Given the description of an element on the screen output the (x, y) to click on. 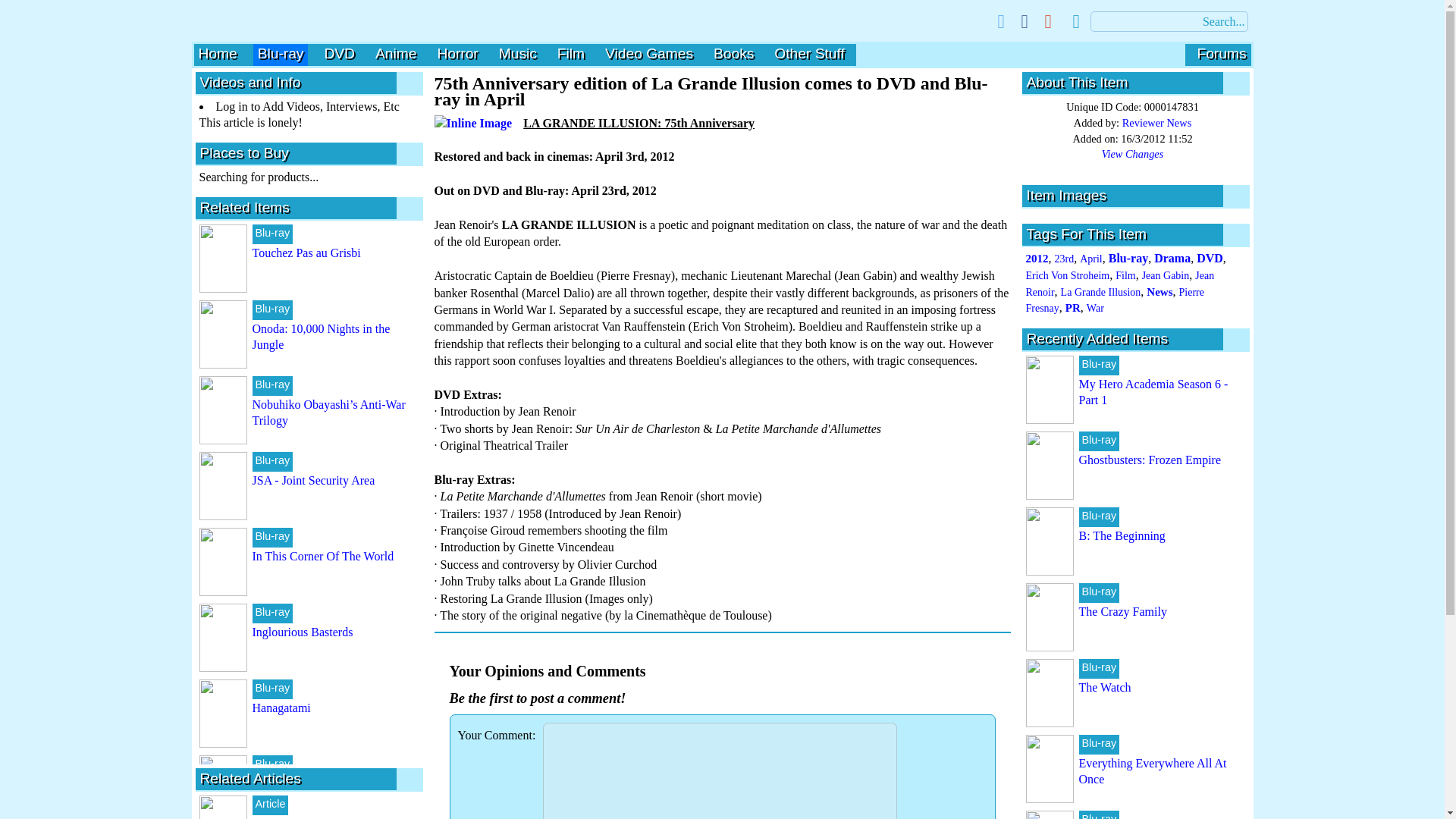
Music (518, 53)
Touchez Pas au Grisbi (305, 252)
Film (571, 53)
Books (733, 53)
Blu-ray (280, 53)
Forums (1221, 53)
Onoda: 10,000 Nights in the Jungle (320, 336)
Home (217, 53)
Video Games (649, 53)
Horror (456, 53)
Share on Facebook (1024, 21)
change your preferences (1075, 21)
Search... (1168, 21)
